Given the description of an element on the screen output the (x, y) to click on. 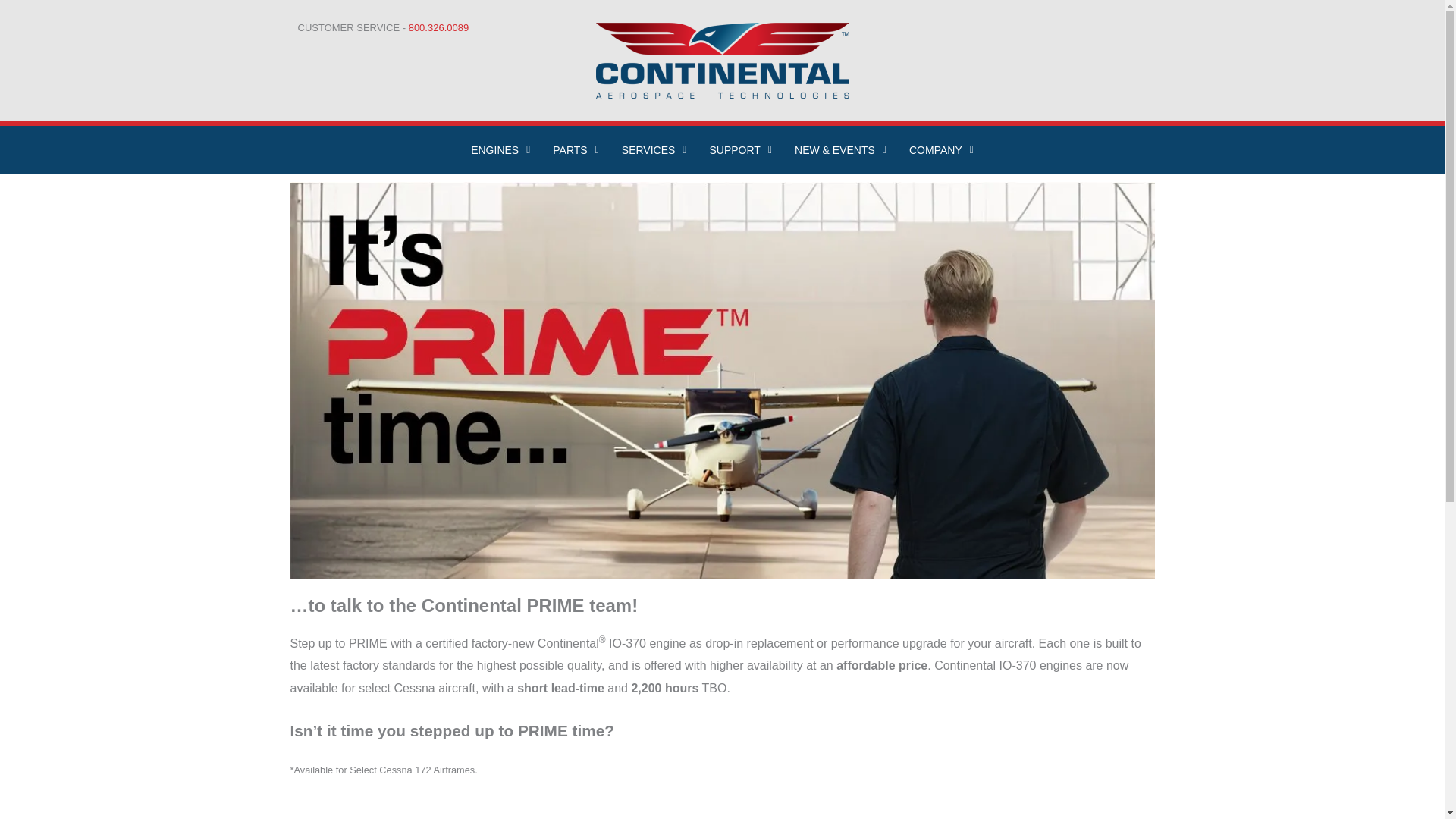
continental-aerospace-technologies (721, 60)
PARTS (575, 150)
ENGINES (500, 150)
SUPPORT (740, 150)
SERVICES (654, 150)
CUSTOMER SERVICE - 800.326.0089 (382, 27)
COMPANY (941, 150)
